Given the description of an element on the screen output the (x, y) to click on. 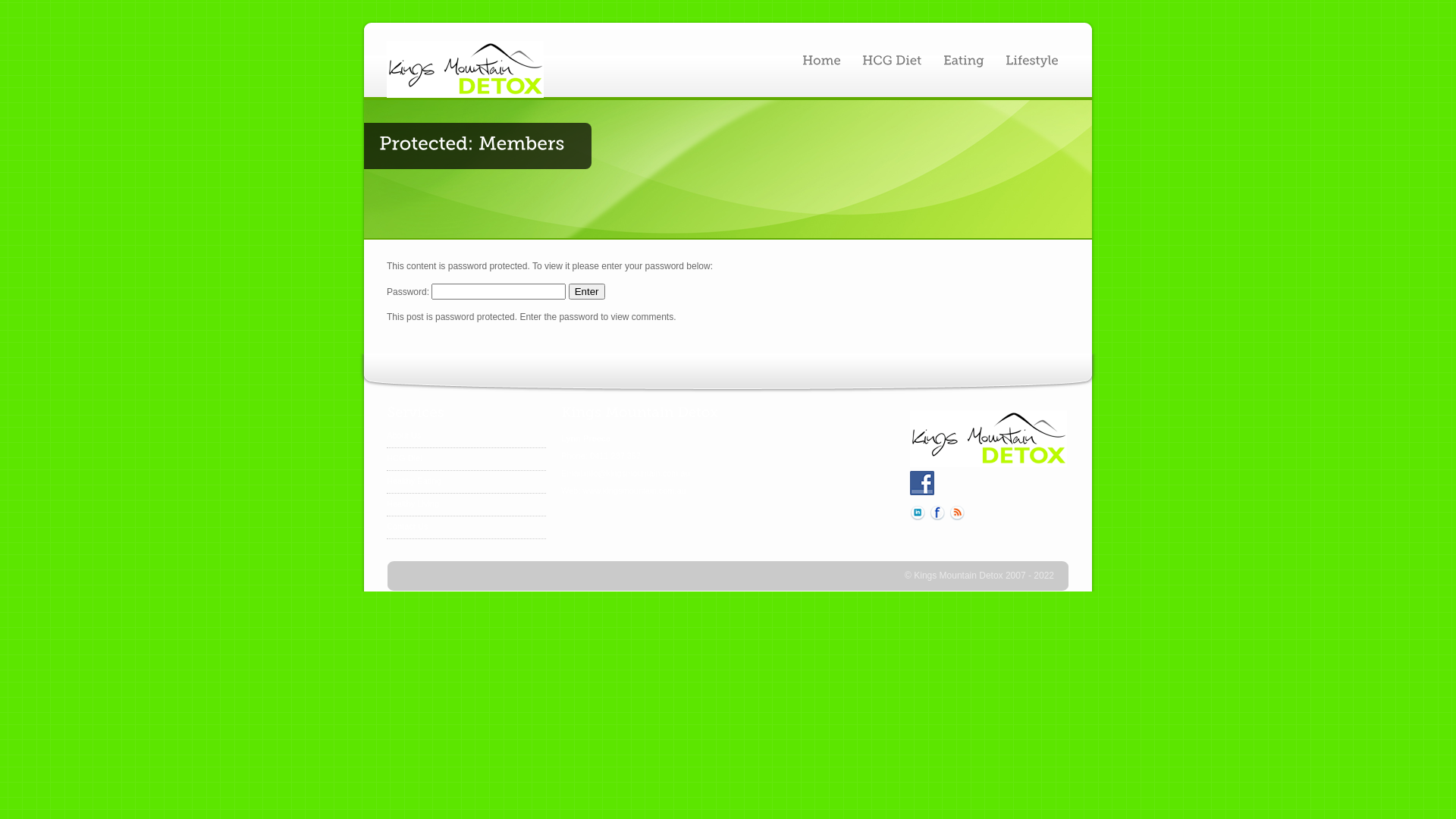
About Us Element type: text (403, 434)
Enter Element type: text (586, 291)
Follow Us On Facebook Element type: hover (922, 482)
0411 237 357 Element type: text (614, 455)
Contact Us Element type: text (406, 525)
HCG Diet Element type: text (404, 457)
Healthy Eating Element type: text (413, 480)
Healthy Living Element type: text (412, 503)
info@kingsmountain.com.au Element type: text (637, 472)
